Given the description of an element on the screen output the (x, y) to click on. 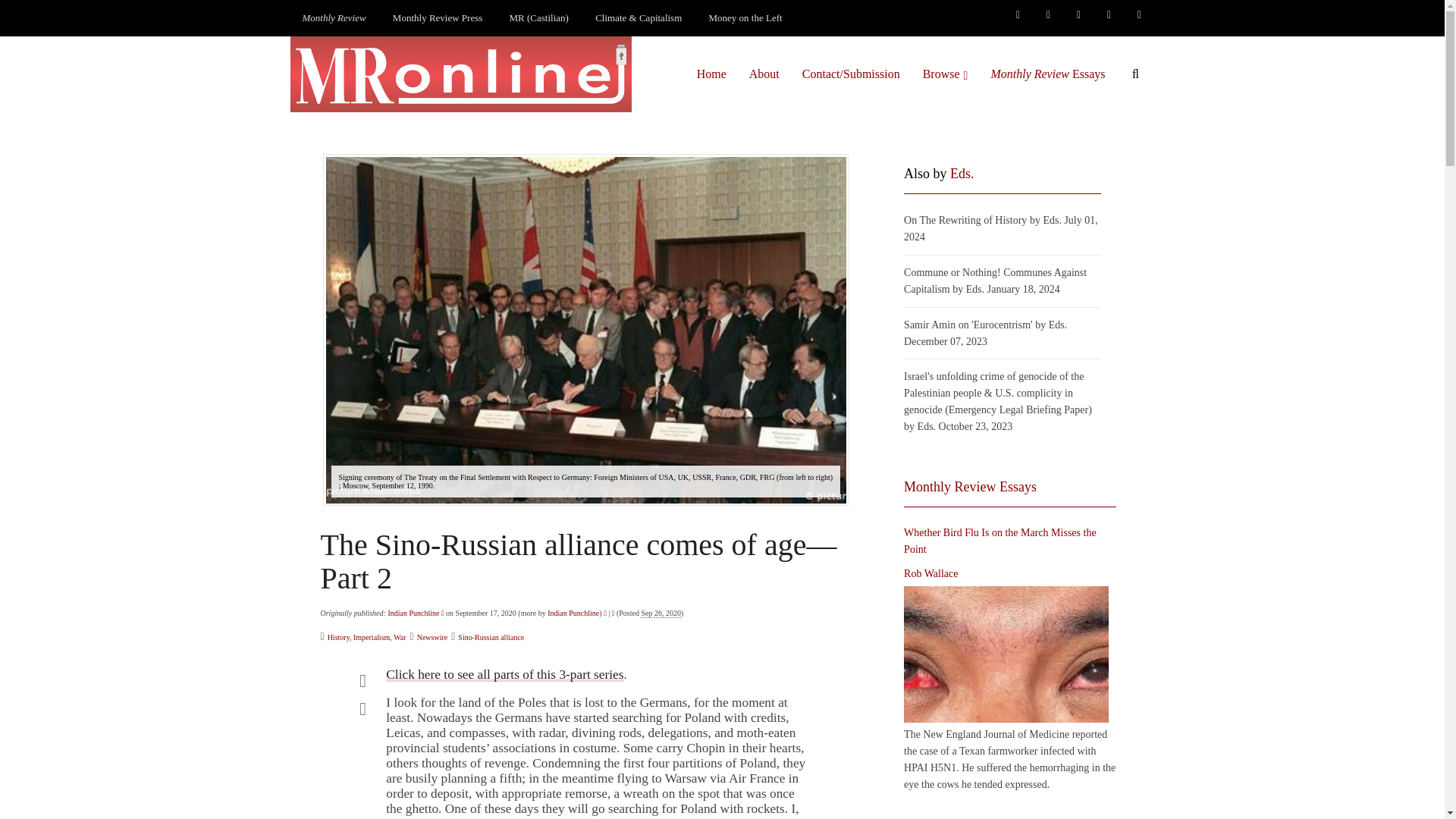
Monthly Review (333, 18)
Money on the Left (745, 18)
Browse (945, 74)
Posts by Rob Wallace (931, 573)
Monthly Review Press (437, 18)
Whether Bird Flu Is on the March Misses the Point (1006, 654)
Monthly Review Magazine (333, 18)
